Given the description of an element on the screen output the (x, y) to click on. 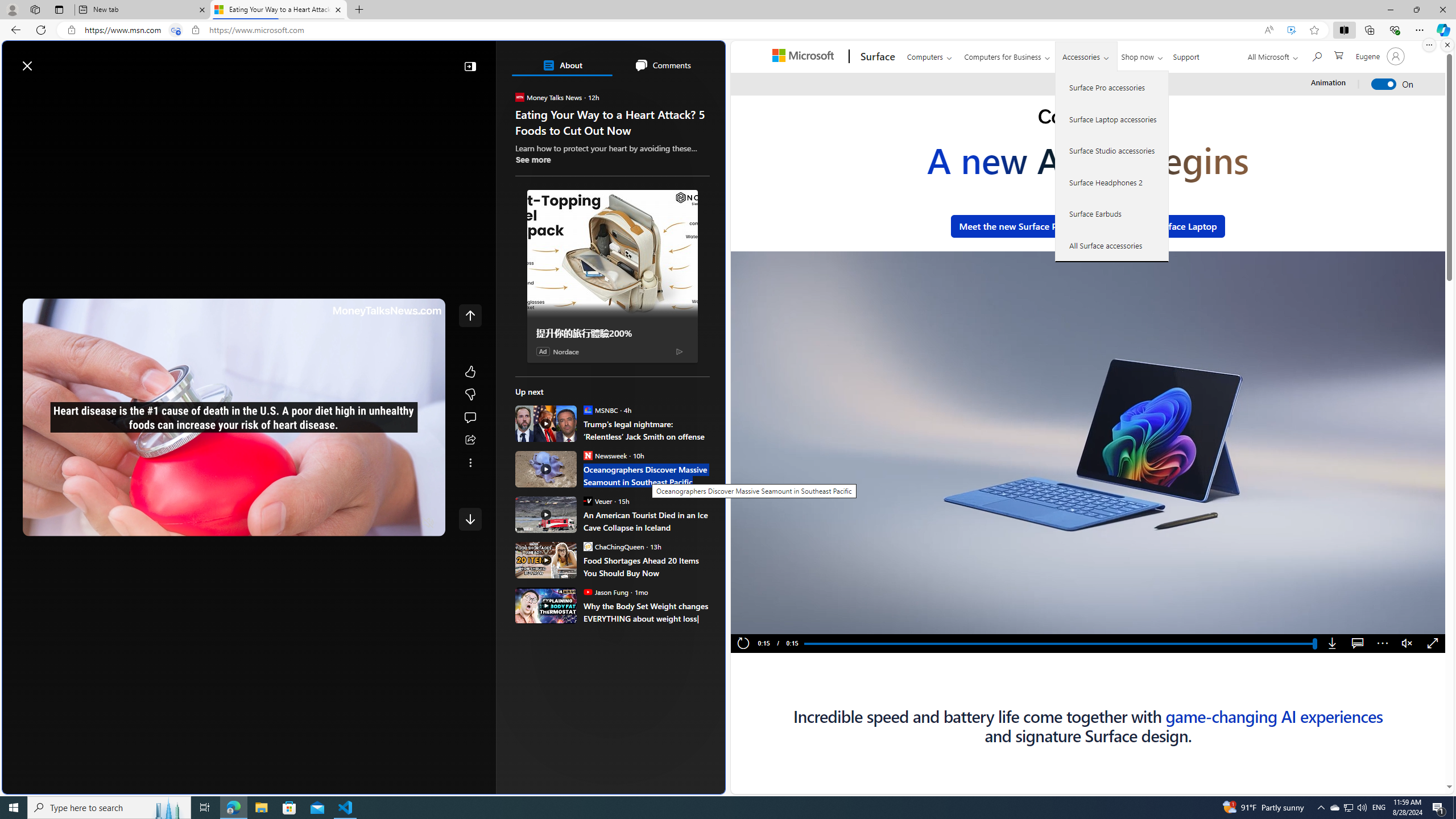
Money Talks News (519, 96)
Microsoft (804, 56)
Comments (662, 64)
Meet the new Surface Pro (1012, 225)
Class: button-glyph (16, 92)
More like thisFewer like thisStart the conversation (469, 394)
Surface (876, 56)
Personalize (679, 92)
